Given the description of an element on the screen output the (x, y) to click on. 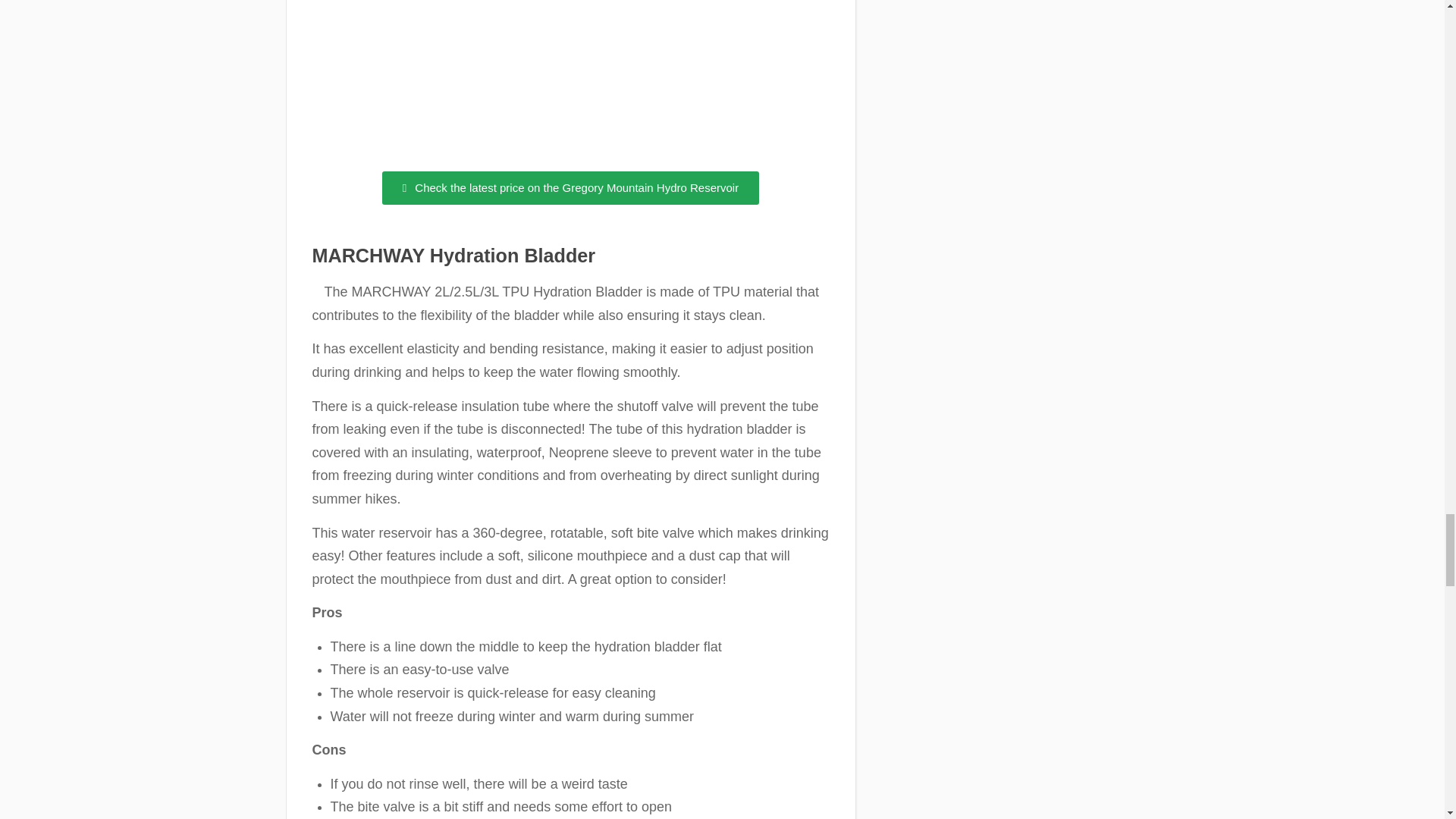
MARCHWAY Hydration Bladder (454, 255)
